Given the description of an element on the screen output the (x, y) to click on. 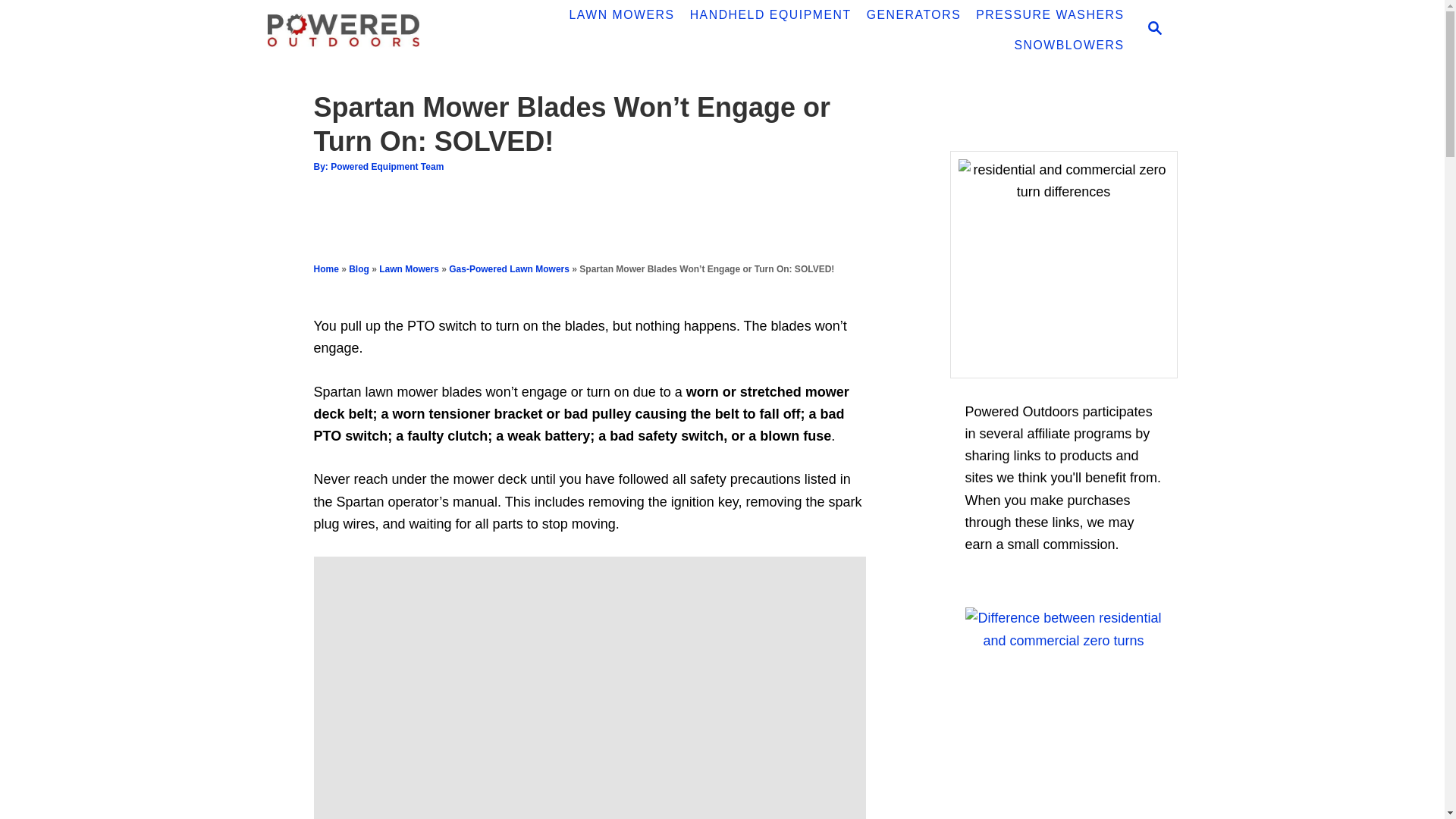
Powered Equipment Team (387, 166)
SEARCH (1153, 29)
Lawn Mowers (408, 268)
SNOWBLOWERS (1068, 45)
Blog (359, 268)
Home (326, 268)
Powered Outdoors (373, 30)
GENERATORS (914, 15)
PRESSURE WASHERS (1049, 15)
LAWN MOWERS (620, 15)
Gas-Powered Lawn Mowers (508, 268)
HANDHELD EQUIPMENT (770, 15)
